Given the description of an element on the screen output the (x, y) to click on. 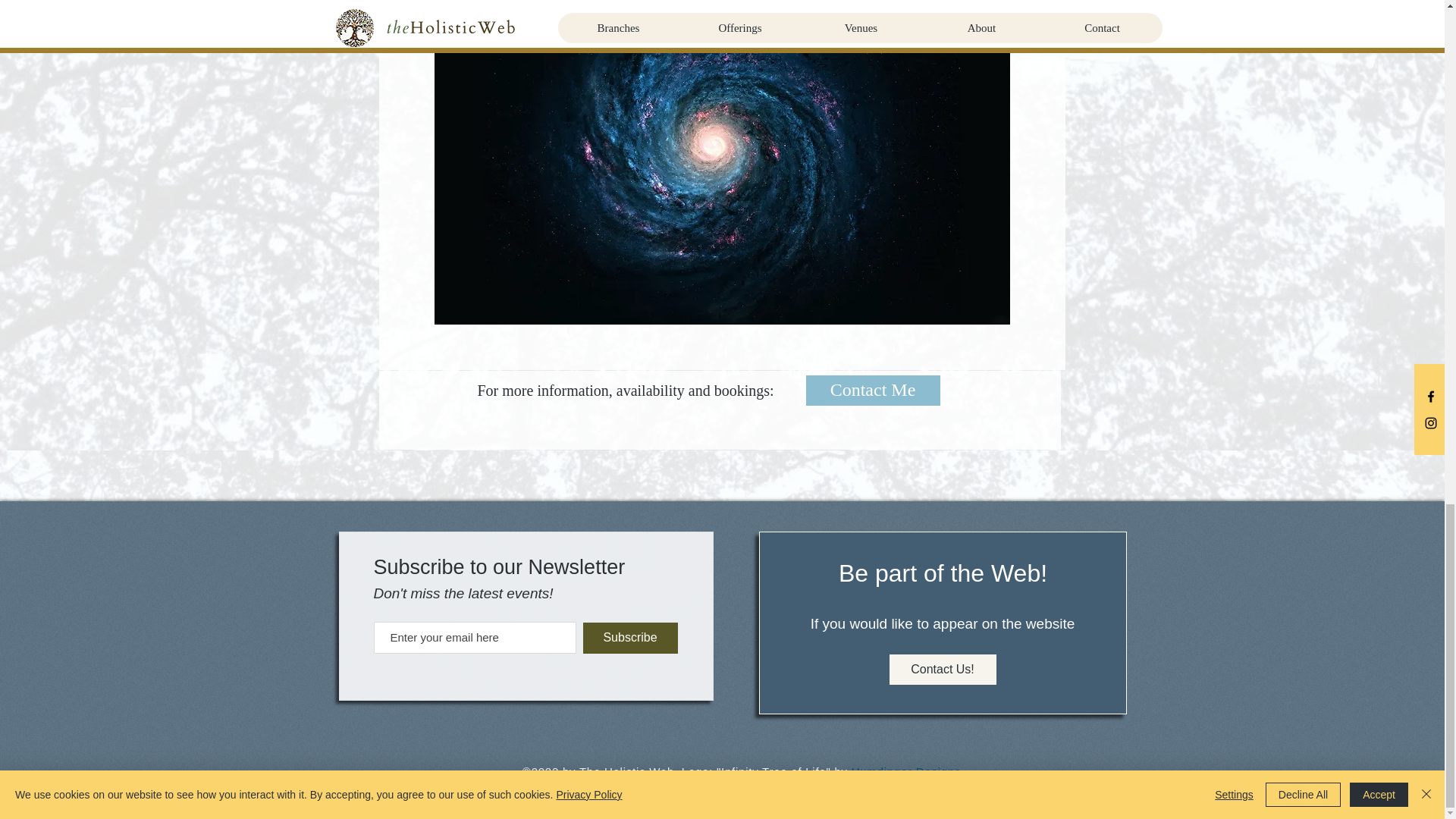
Subscribe (629, 637)
Contact Me (872, 390)
Contact Us! (941, 669)
Humdinger Designs (905, 771)
